Given the description of an element on the screen output the (x, y) to click on. 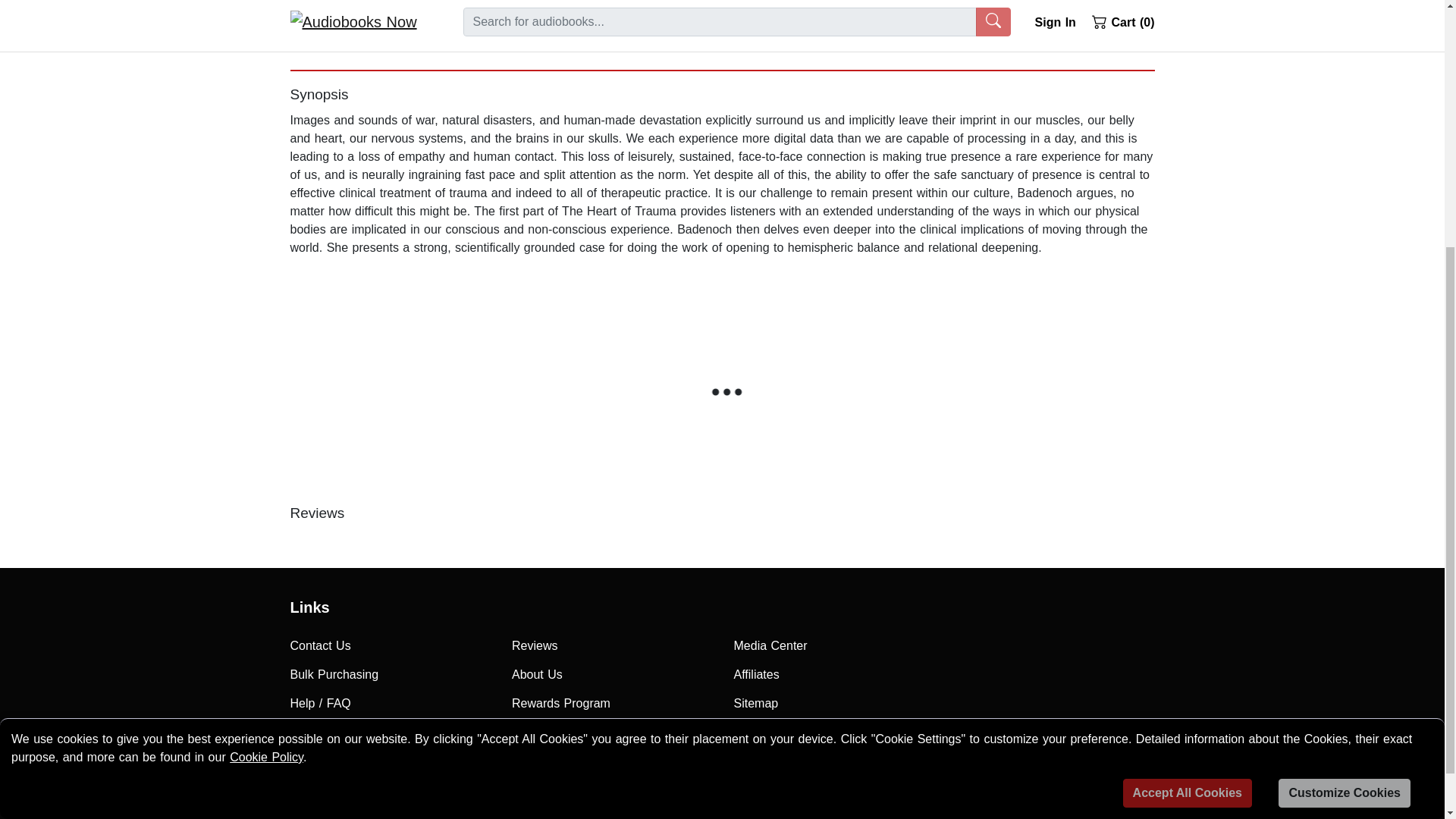
Reviews (611, 645)
Bulk Purchasing (389, 674)
Play Sample (406, 5)
Customize Cookies (1344, 425)
Accept All Cookies (1187, 425)
Join Mailing List (389, 732)
Contact Us (389, 645)
Share (1069, 10)
About Us (611, 674)
Cookie Policy (266, 390)
